Given the description of an element on the screen output the (x, y) to click on. 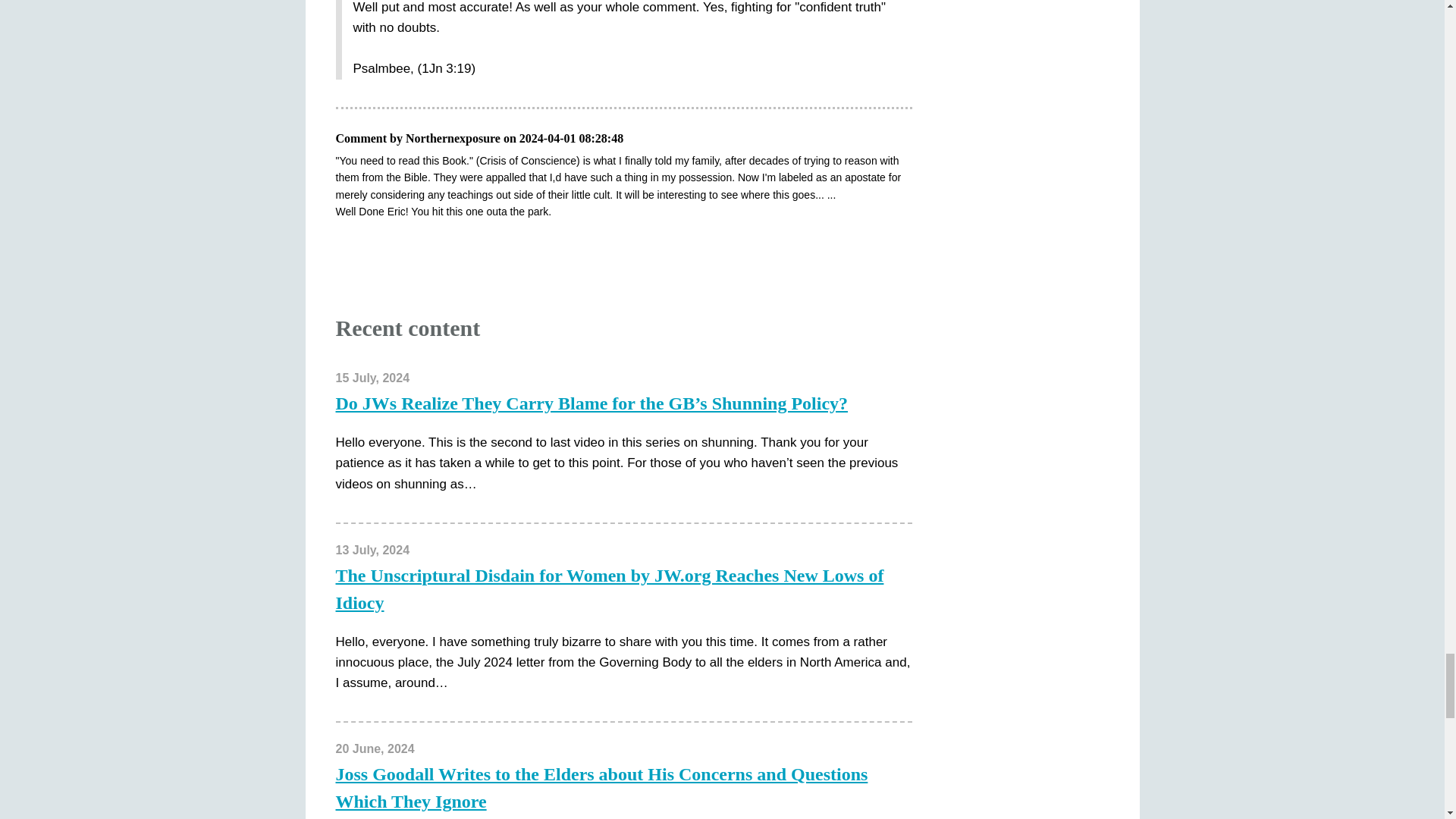
Monday, July 15, 2024 (371, 377)
Saturday, July 13, 2024 (371, 549)
Thursday, June 20, 2024 (373, 748)
